Given the description of an element on the screen output the (x, y) to click on. 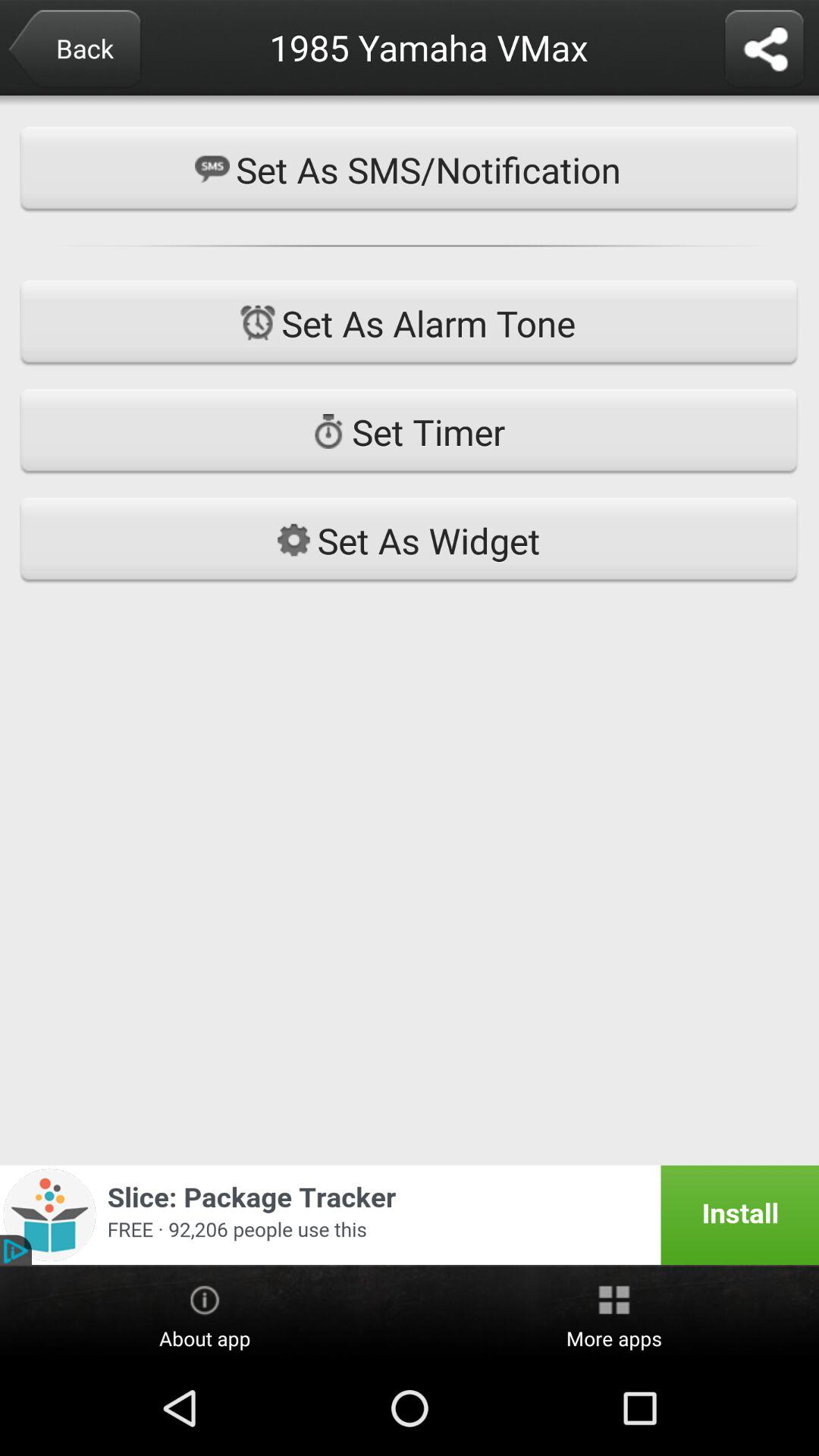
turn on the icon to the right of about app item (614, 1314)
